Given the description of an element on the screen output the (x, y) to click on. 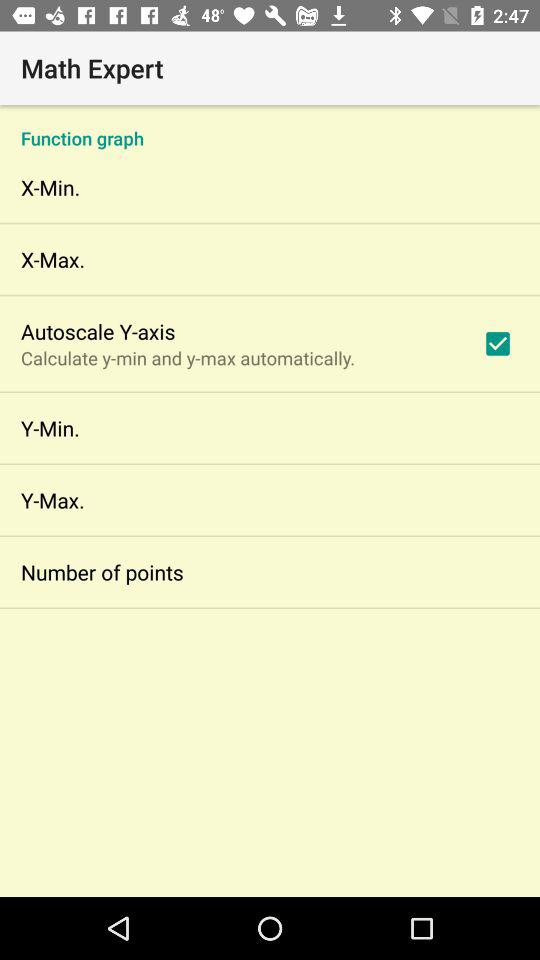
choose the item above the x-min. app (270, 127)
